Given the description of an element on the screen output the (x, y) to click on. 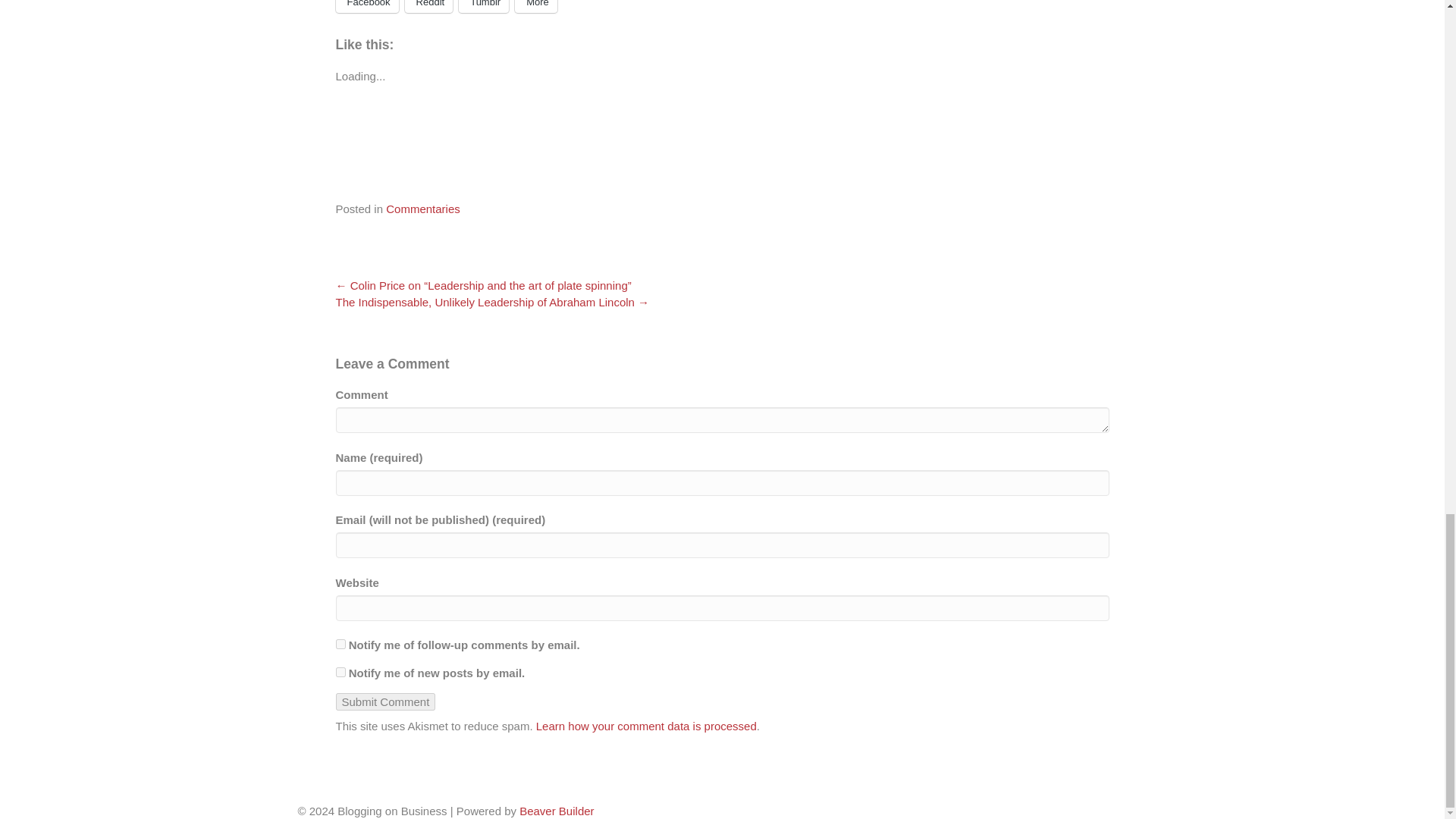
Facebook (365, 6)
Click to share on Tumblr (483, 6)
Click to share on Facebook (365, 6)
Tumblr (483, 6)
subscribe (339, 672)
Click to share on Reddit (428, 6)
Submit Comment (384, 701)
subscribe (339, 644)
Reddit (428, 6)
More (536, 6)
Commentaries (422, 208)
